Given the description of an element on the screen output the (x, y) to click on. 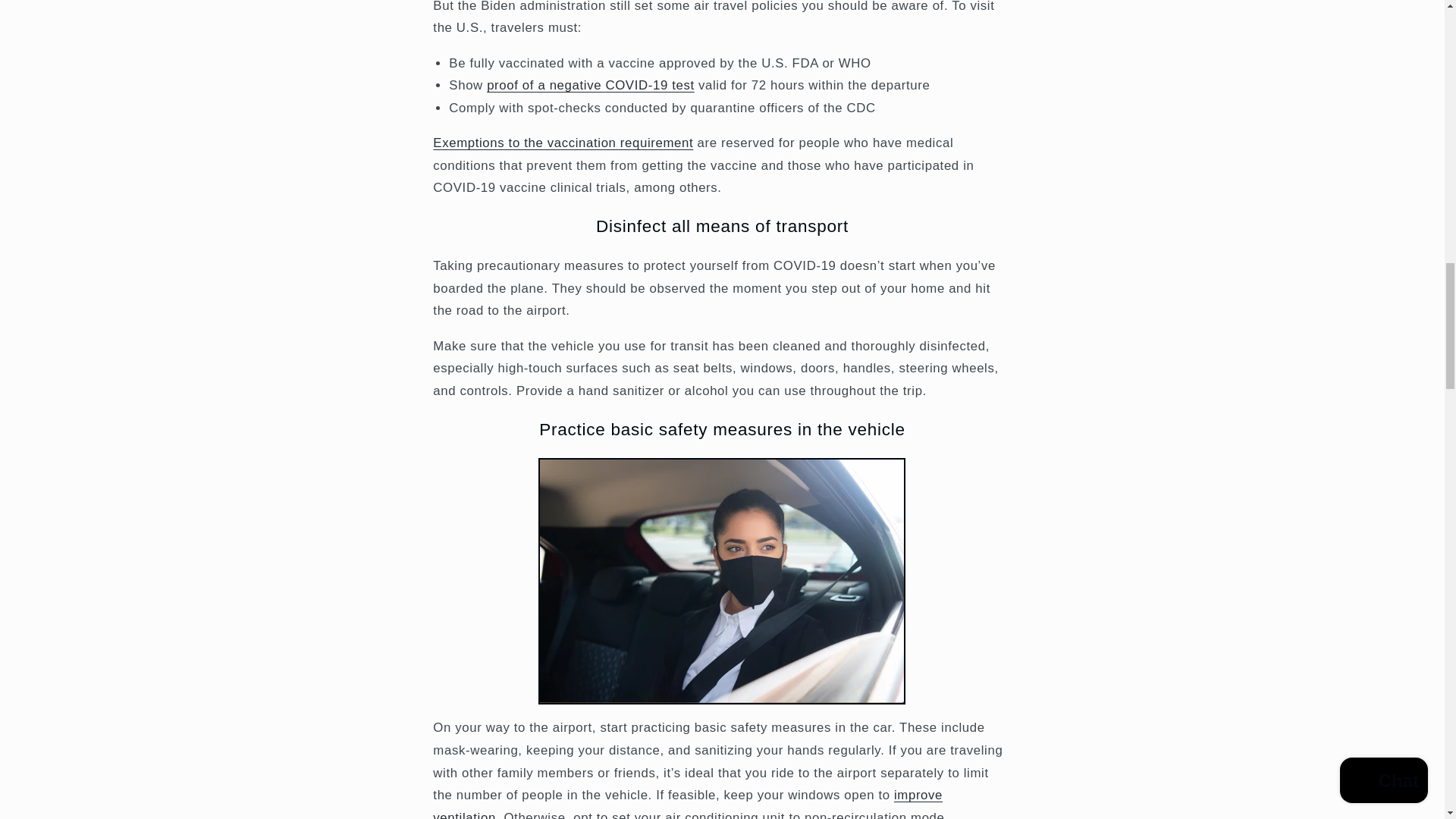
proof of a negative COVID-19 test (590, 84)
improve ventilation (687, 803)
Exemptions to the vaccination requirement (562, 142)
